Given the description of an element on the screen output the (x, y) to click on. 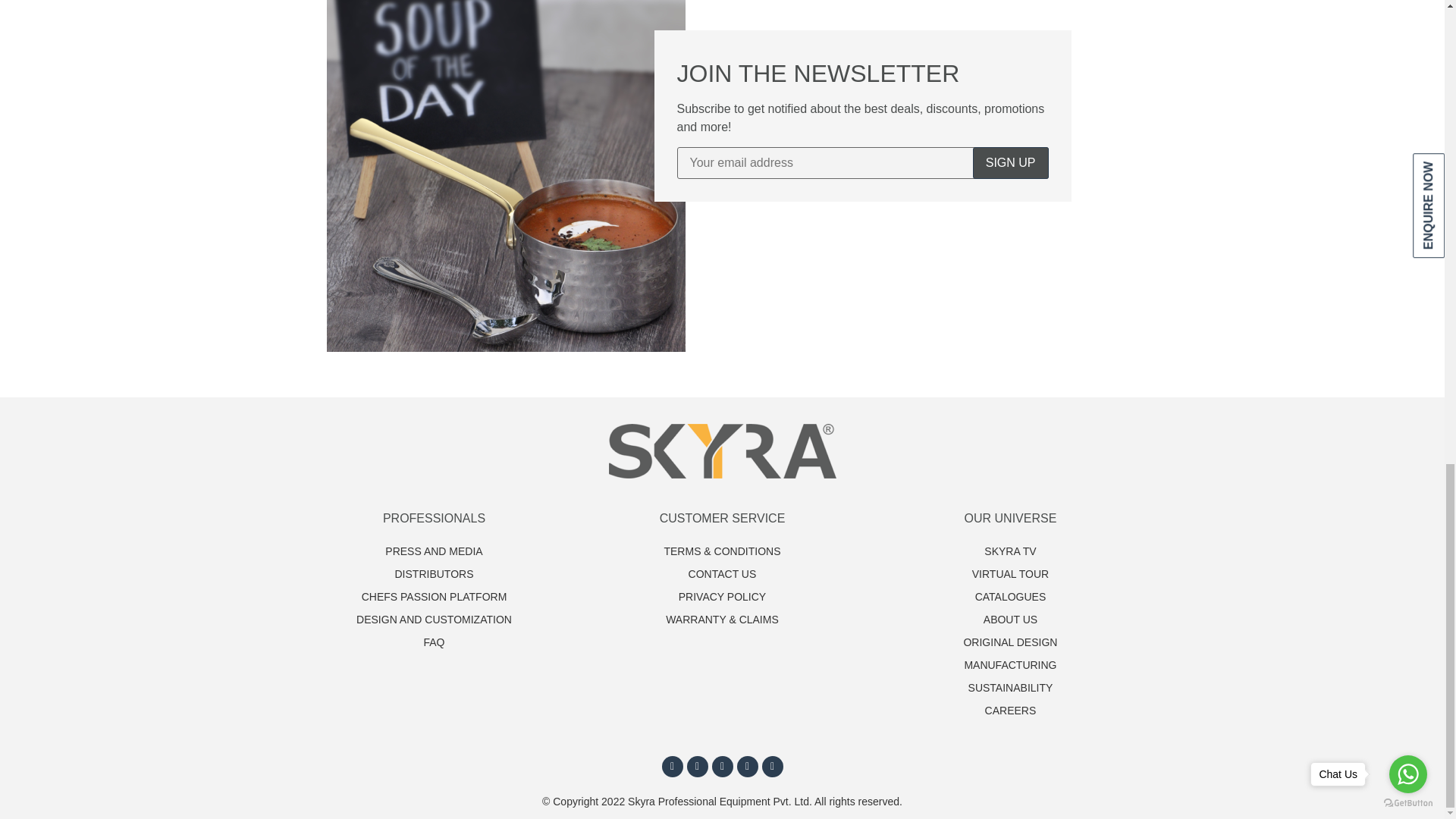
Sign up (1010, 163)
